Given the description of an element on the screen output the (x, y) to click on. 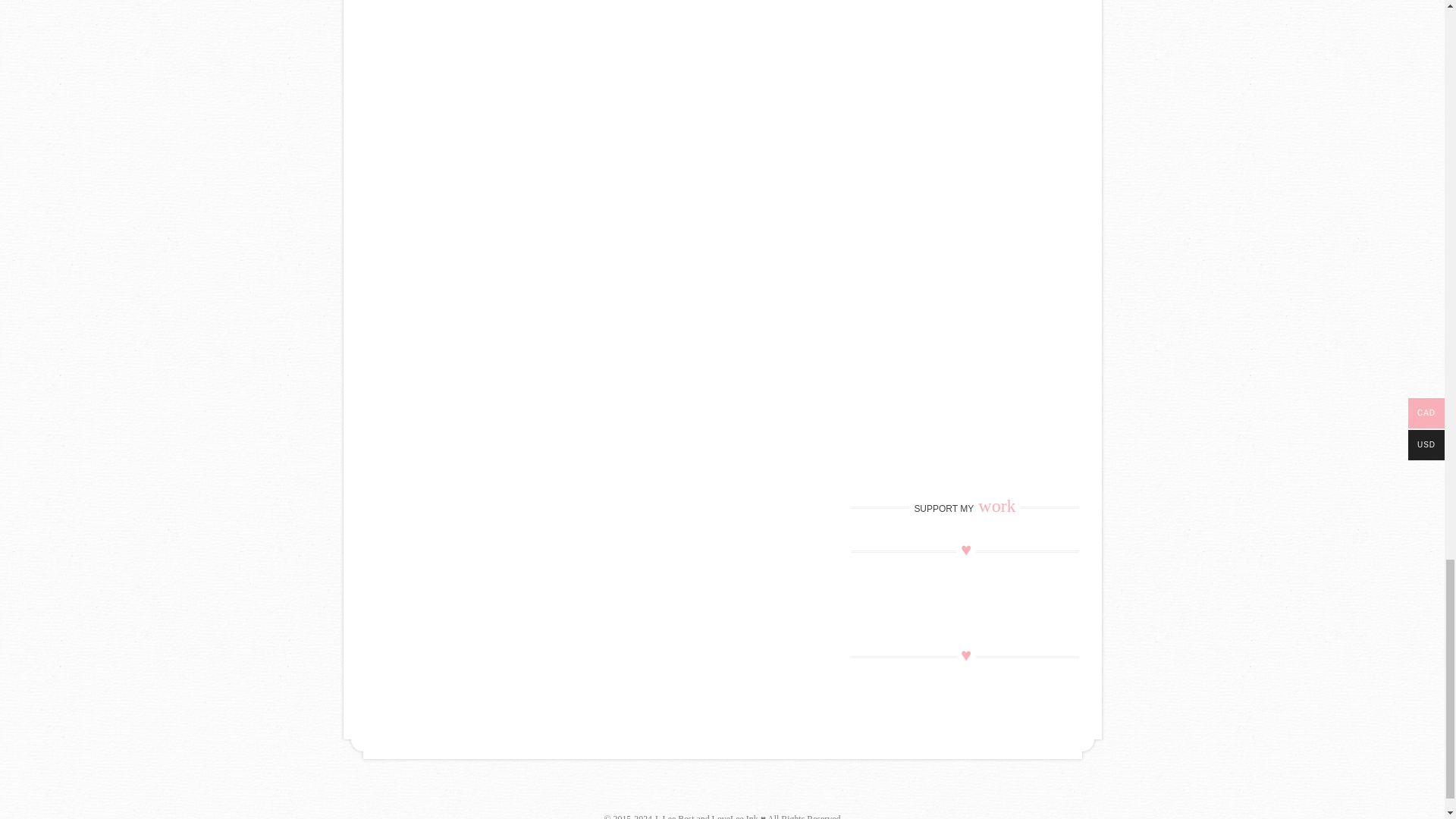
Paymant Methods (720, 789)
